Given the description of an element on the screen output the (x, y) to click on. 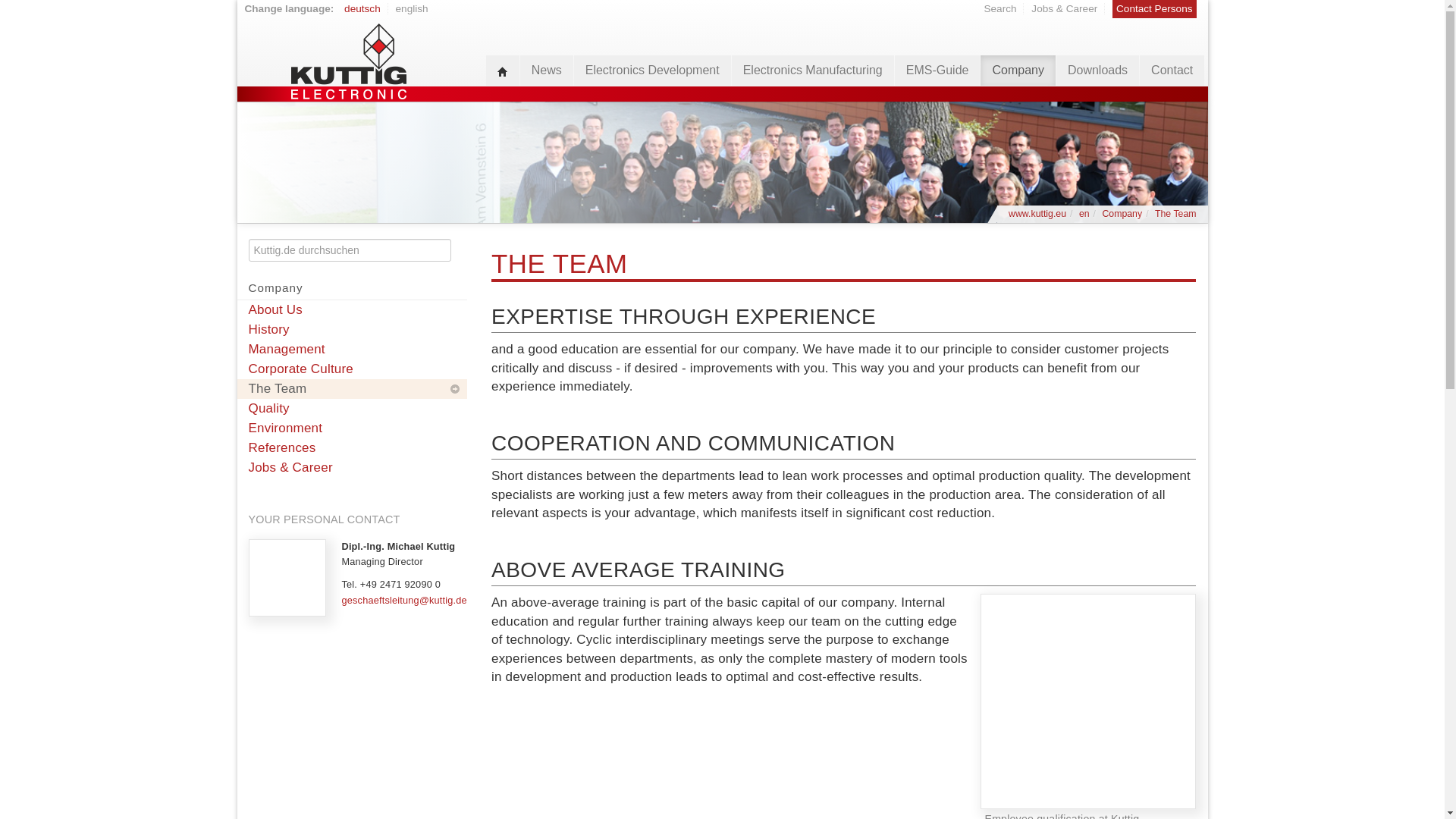
Contact Persons (1154, 9)
Kuttig Electronic (1037, 213)
Kuttig Electronic (347, 54)
Jobs and Career (1063, 8)
References (350, 447)
Electronics Development (651, 70)
About Us (350, 310)
The Team (1175, 213)
Contract Electronics Manufacturing Services (1083, 213)
EMS-Guide (937, 70)
Company (1121, 213)
Search Through  (1000, 8)
Downloads (1097, 70)
Corporate Culture (350, 369)
Quality (350, 408)
